Given the description of an element on the screen output the (x, y) to click on. 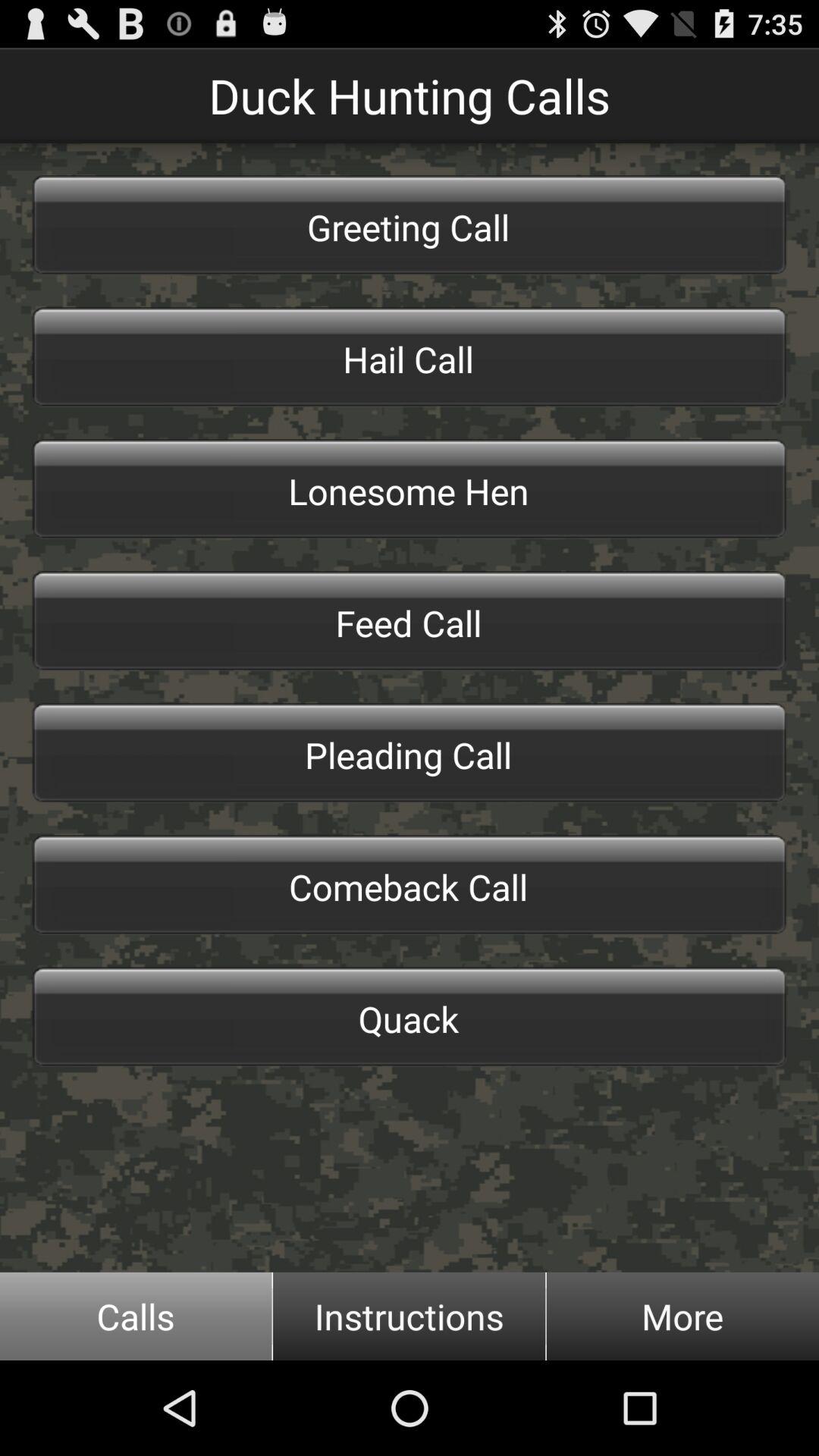
flip until greeting call item (409, 225)
